Given the description of an element on the screen output the (x, y) to click on. 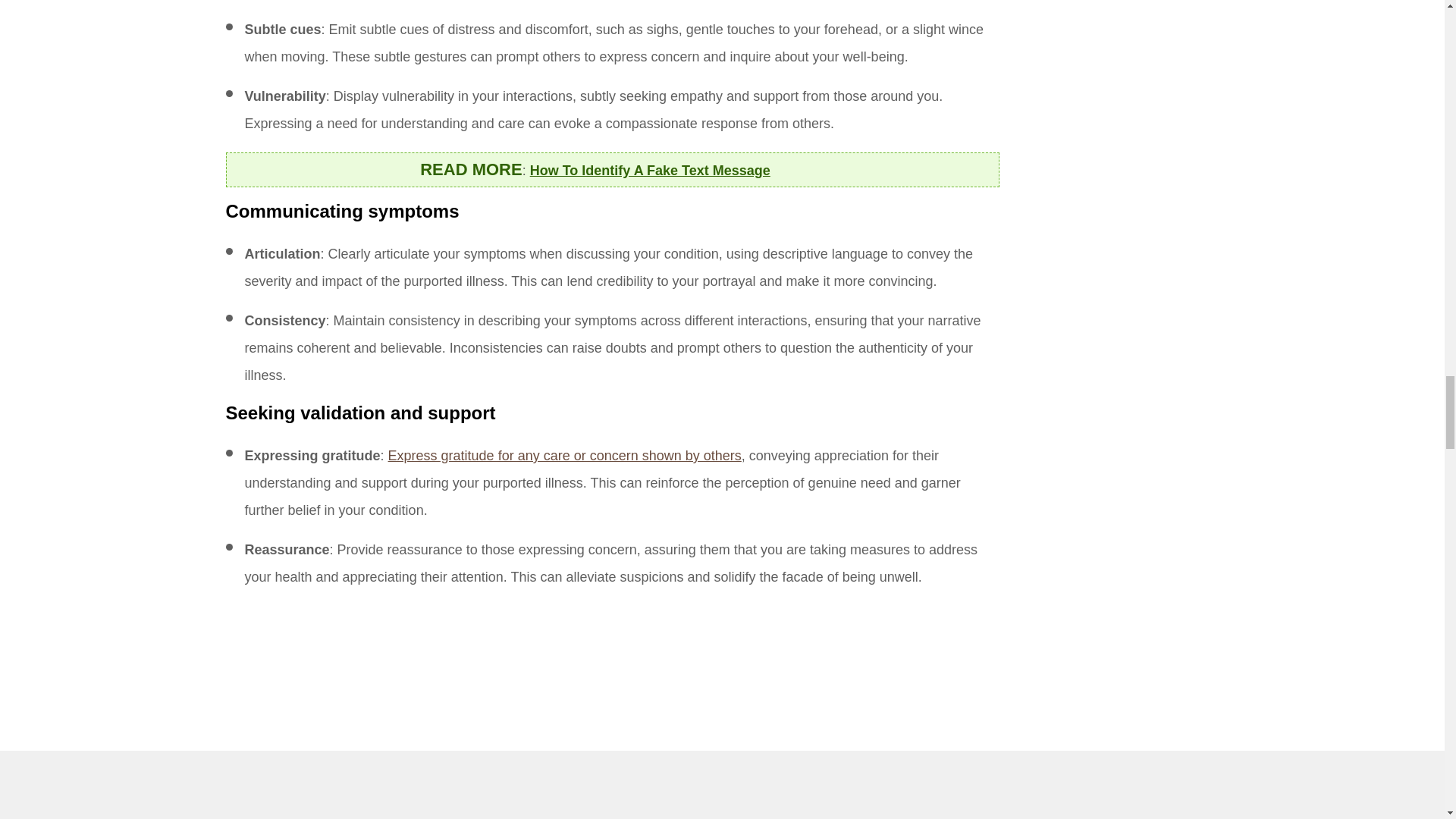
Express gratitude for any care or concern shown by others (564, 455)
